Given the description of an element on the screen output the (x, y) to click on. 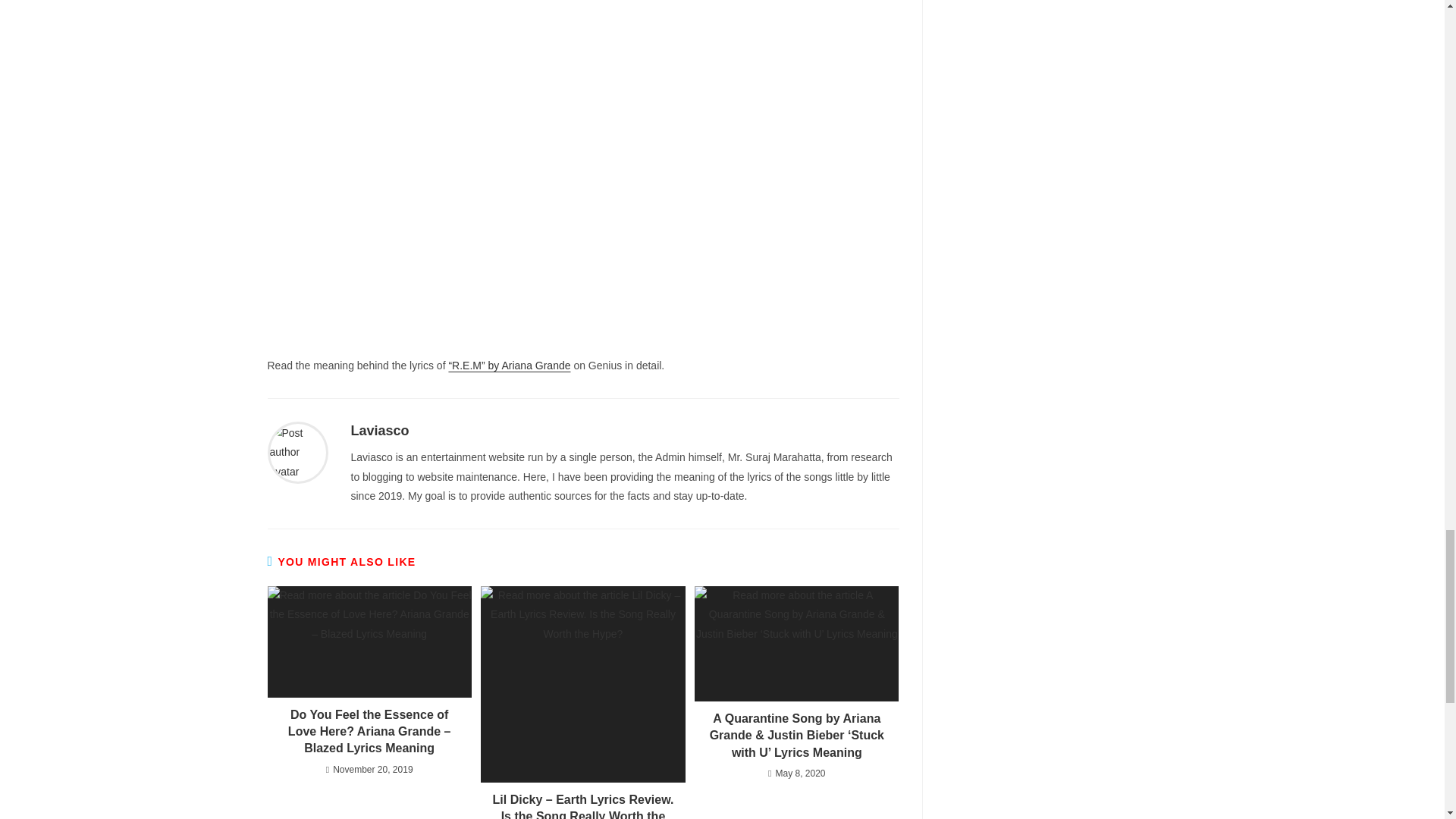
Visit author page (379, 430)
Visit author page (296, 451)
